Given the description of an element on the screen output the (x, y) to click on. 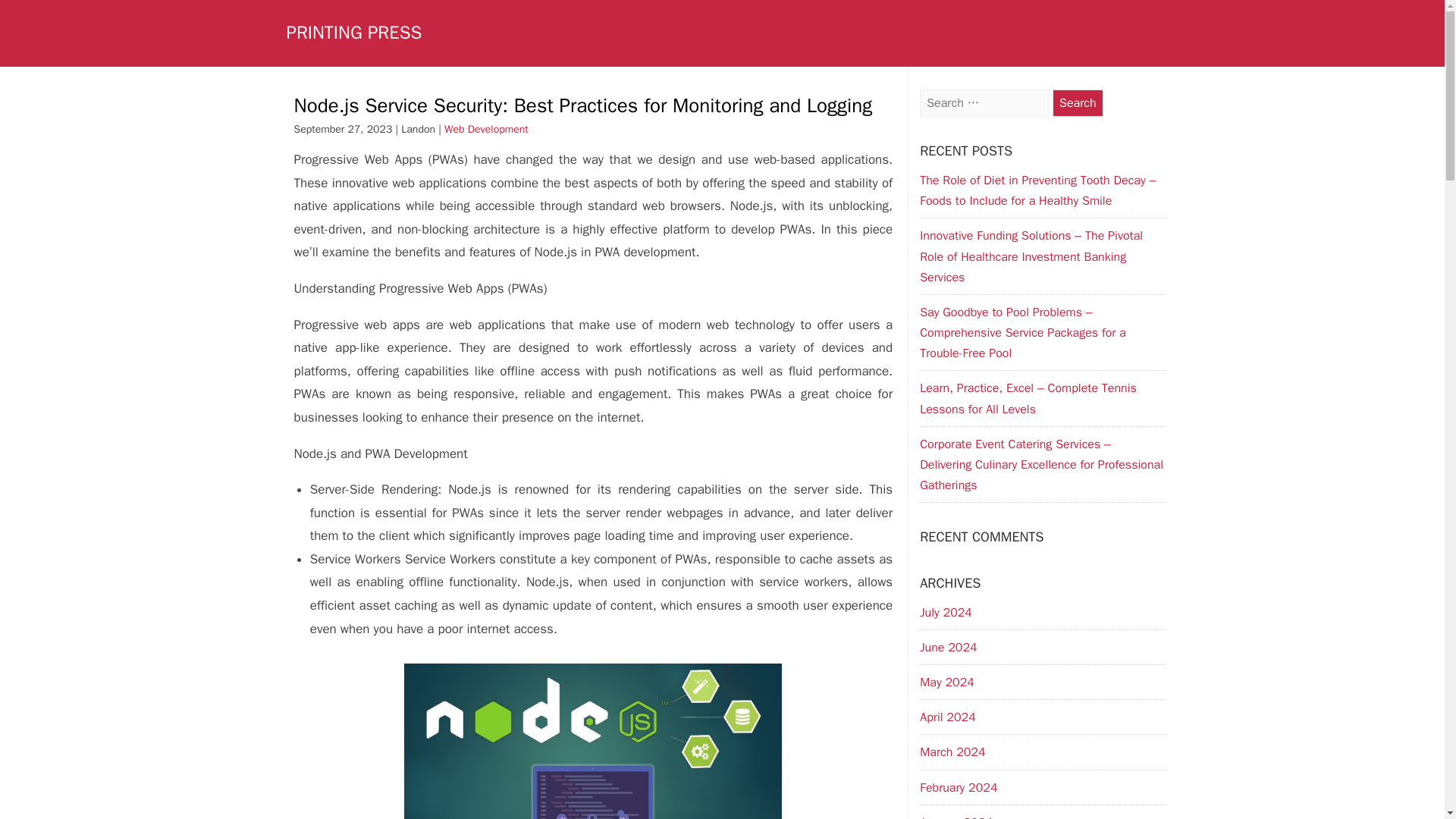
Search (1077, 103)
January 2024 (956, 816)
Search (1077, 103)
April 2024 (947, 717)
May 2024 (947, 682)
Search (1077, 103)
Web Development (486, 128)
February 2024 (958, 787)
July 2024 (946, 612)
March 2024 (952, 752)
PRINTING PRESS (354, 32)
June 2024 (948, 647)
